Given the description of an element on the screen output the (x, y) to click on. 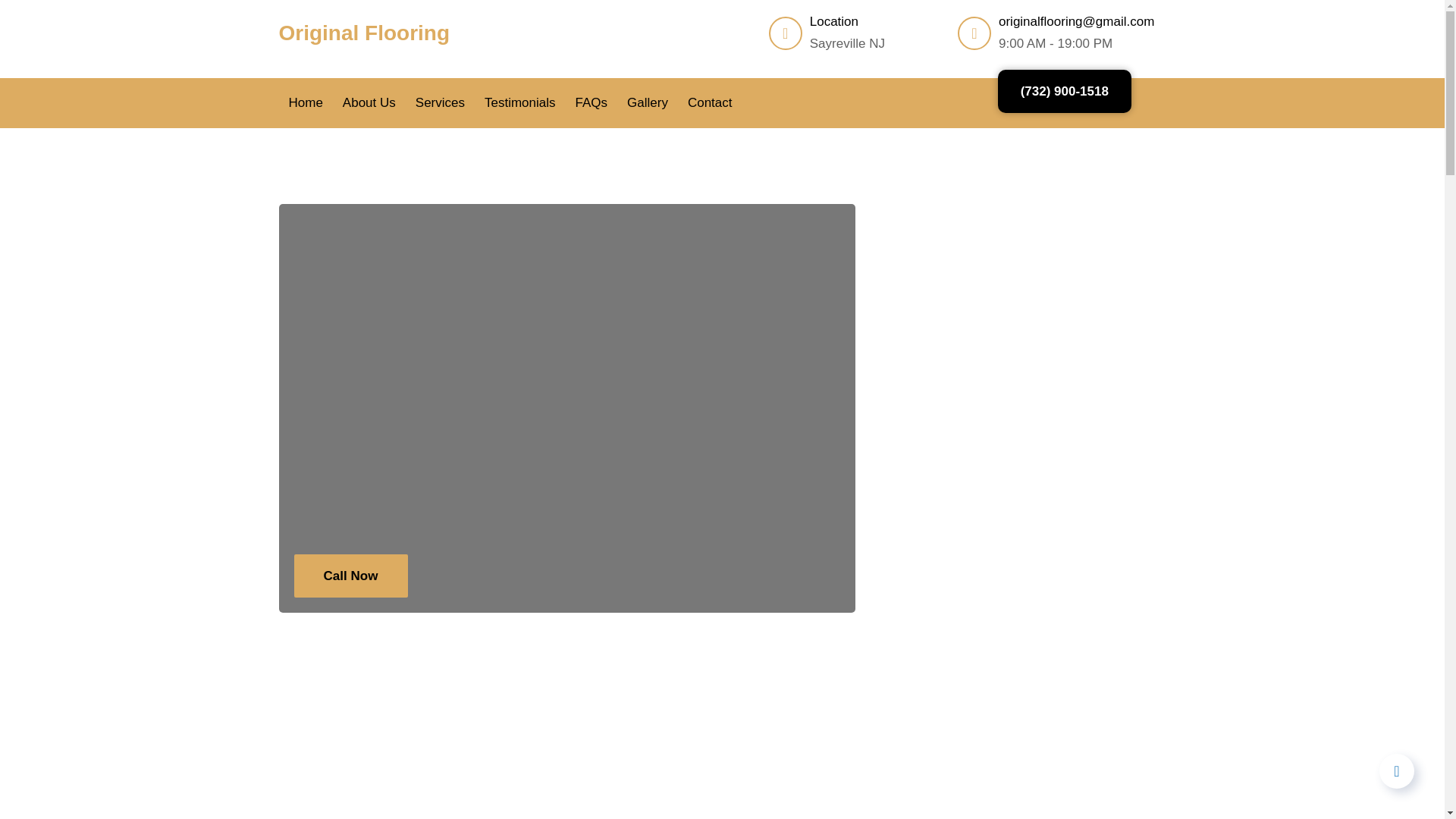
FAQs (591, 102)
Contact (710, 102)
About Us (369, 102)
Call Now (350, 575)
Services (440, 102)
Testimonials (520, 102)
Home (306, 102)
Gallery (647, 102)
